Given the description of an element on the screen output the (x, y) to click on. 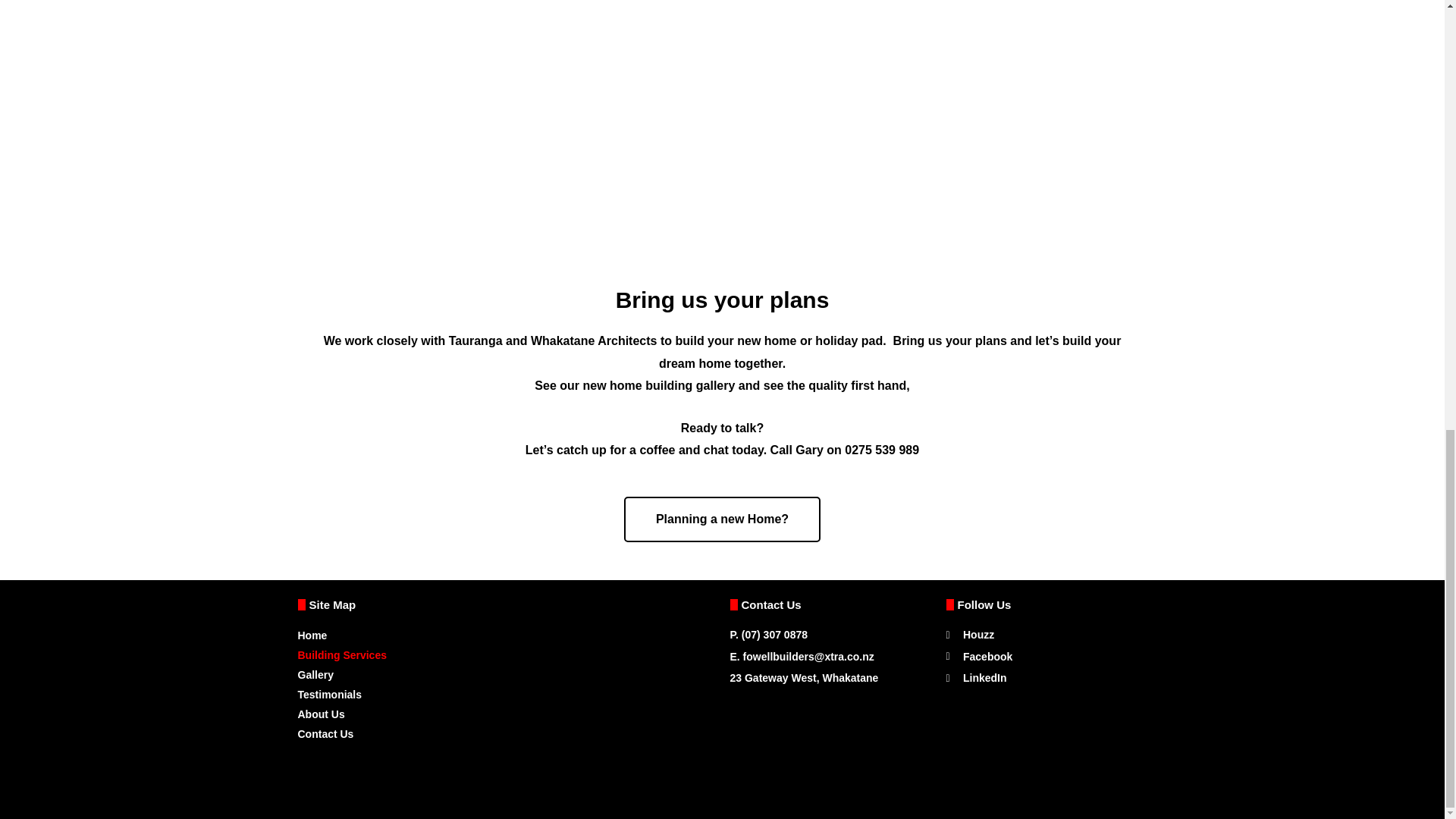
Building Services (505, 655)
Gallery (505, 674)
Contact Us (505, 733)
Testimonials (505, 694)
Planning a new Home? (722, 519)
About Us (505, 713)
Home (505, 635)
